Given the description of an element on the screen output the (x, y) to click on. 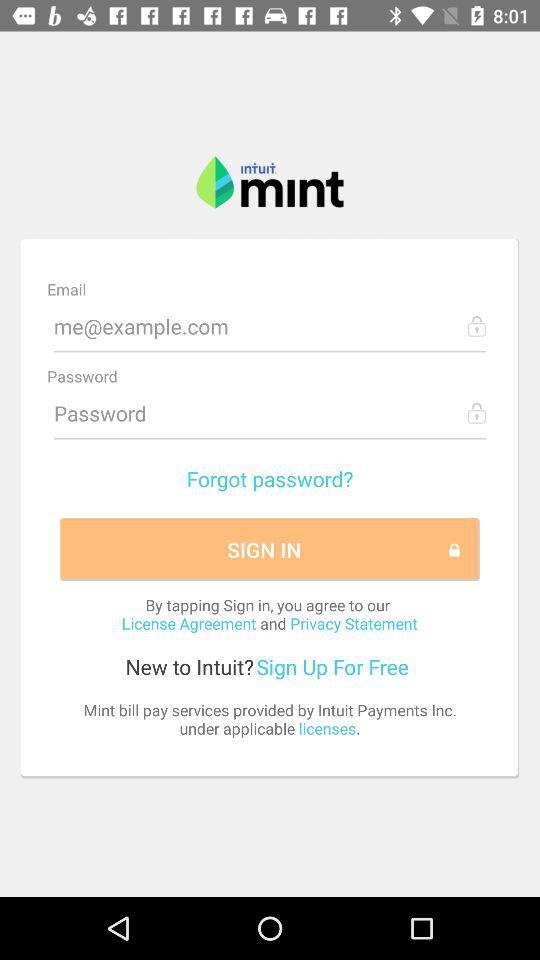
password (270, 413)
